Given the description of an element on the screen output the (x, y) to click on. 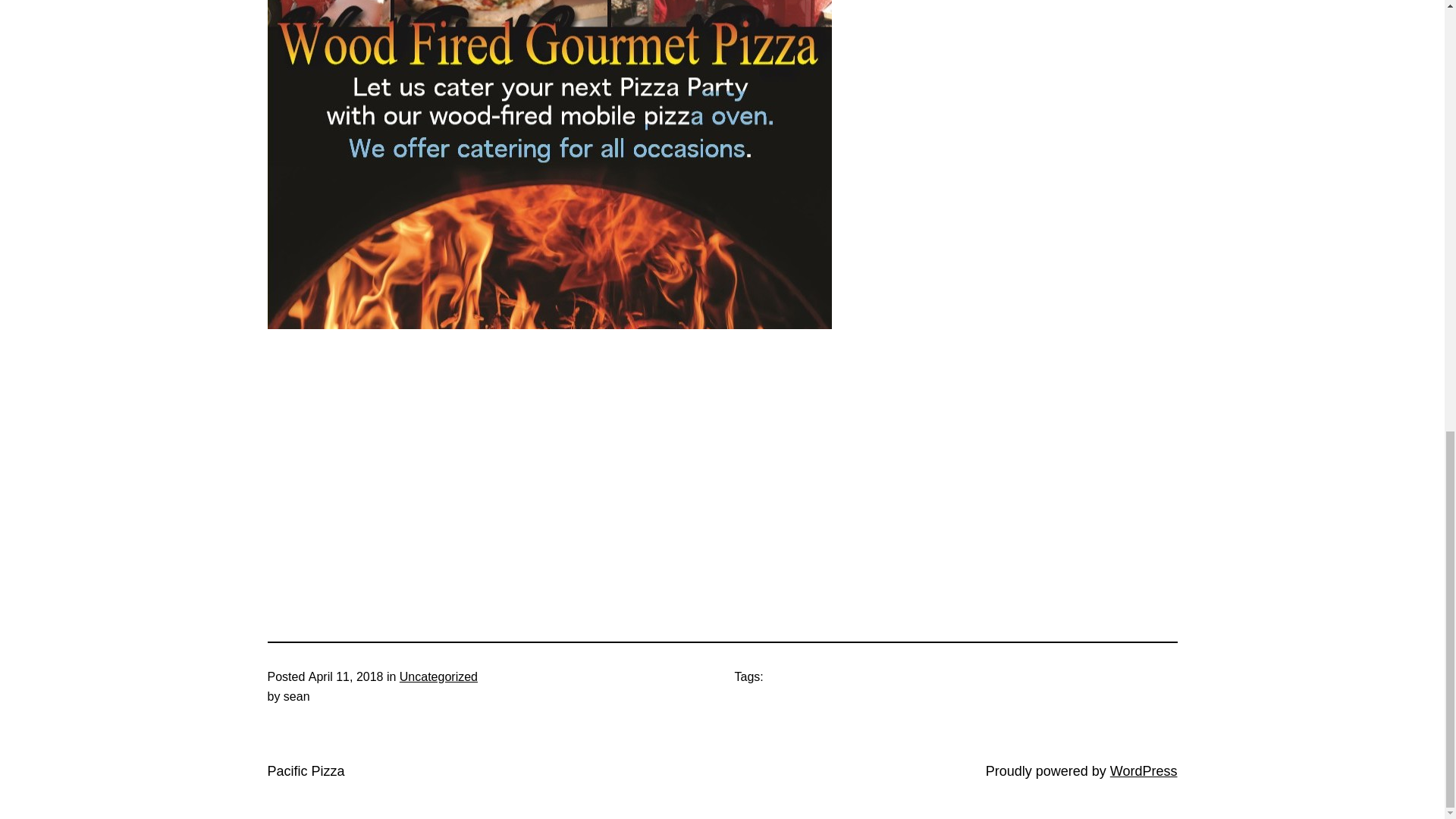
WordPress (1143, 770)
Pacific Pizza (304, 770)
Uncategorized (437, 676)
